Given the description of an element on the screen output the (x, y) to click on. 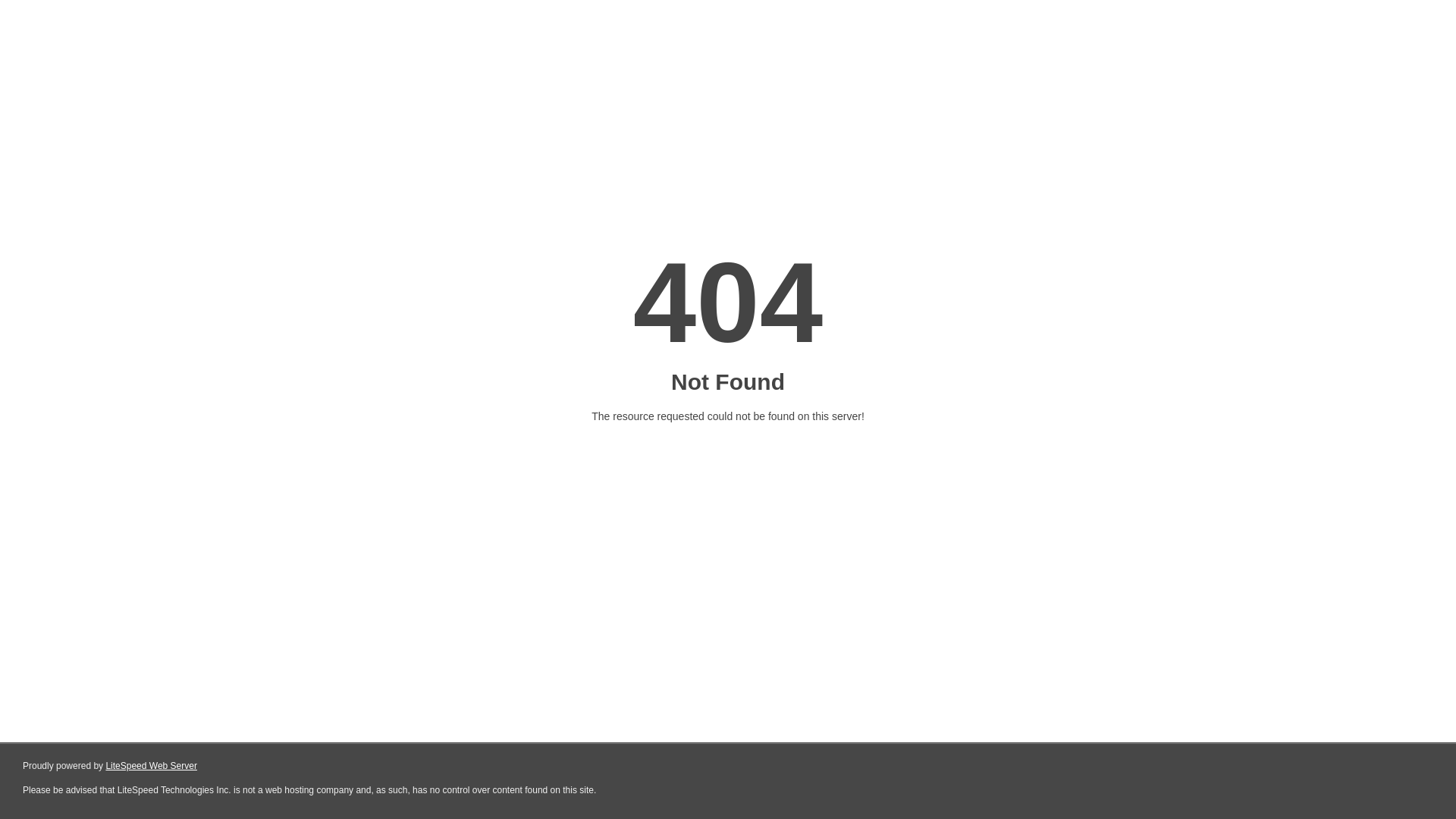
LiteSpeed Web Server Element type: text (151, 765)
